Given the description of an element on the screen output the (x, y) to click on. 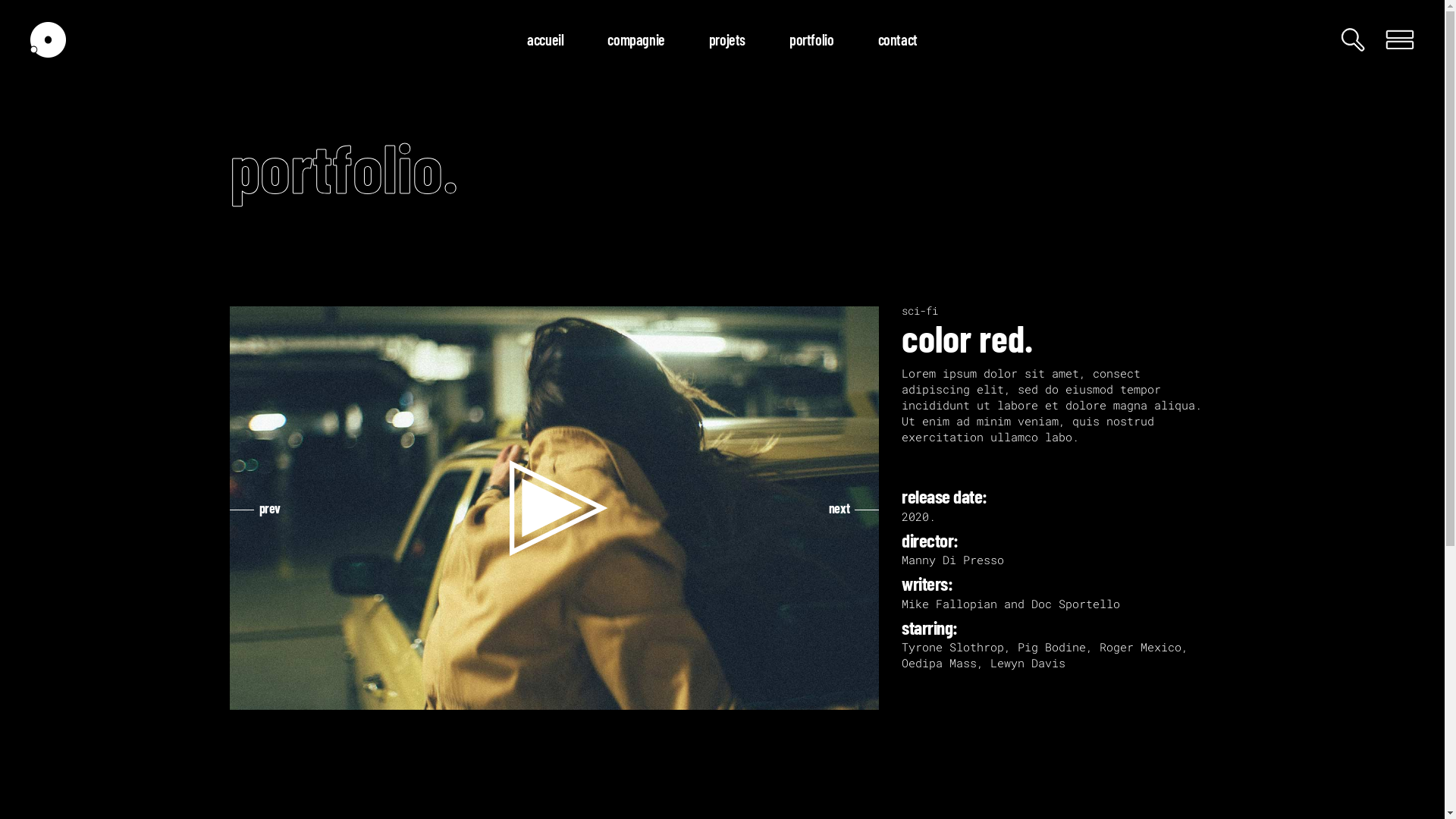
compagnie Element type: text (635, 39)
portfolio Element type: text (811, 39)
prev Element type: text (254, 507)
accueil Element type: text (545, 39)
next Element type: text (853, 507)
contact Element type: text (896, 39)
projets Element type: text (727, 39)
sci-fi Element type: text (919, 310)
